Given the description of an element on the screen output the (x, y) to click on. 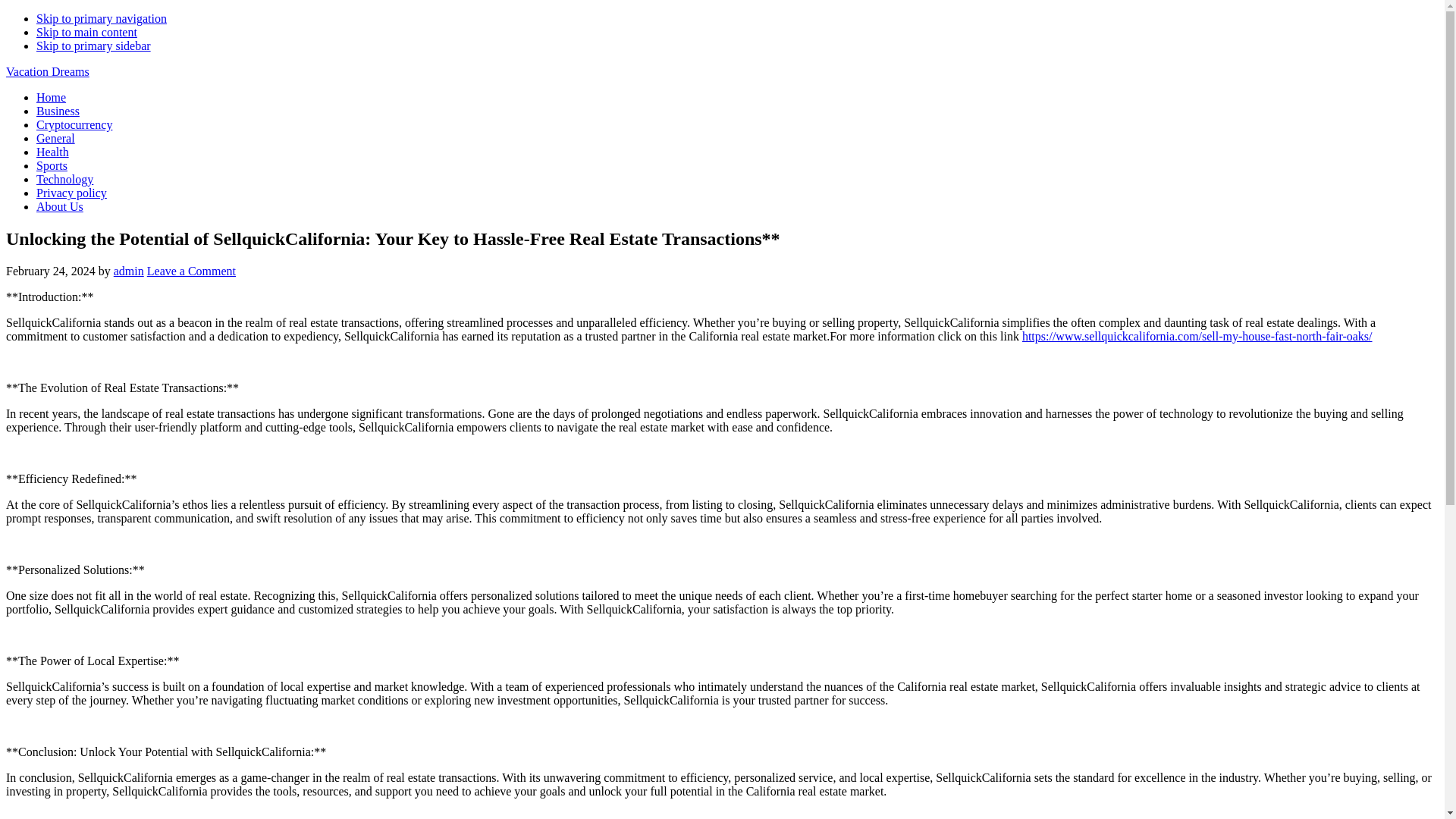
Leave a Comment (191, 270)
admin (128, 270)
Business (58, 110)
About Us (59, 205)
Skip to primary sidebar (93, 45)
Health (52, 151)
Skip to main content (86, 31)
Sports (51, 164)
General (55, 137)
Privacy policy (71, 192)
Cryptocurrency (74, 124)
Technology (64, 178)
Home (50, 97)
Skip to primary navigation (101, 18)
Vacation Dreams (46, 71)
